Given the description of an element on the screen output the (x, y) to click on. 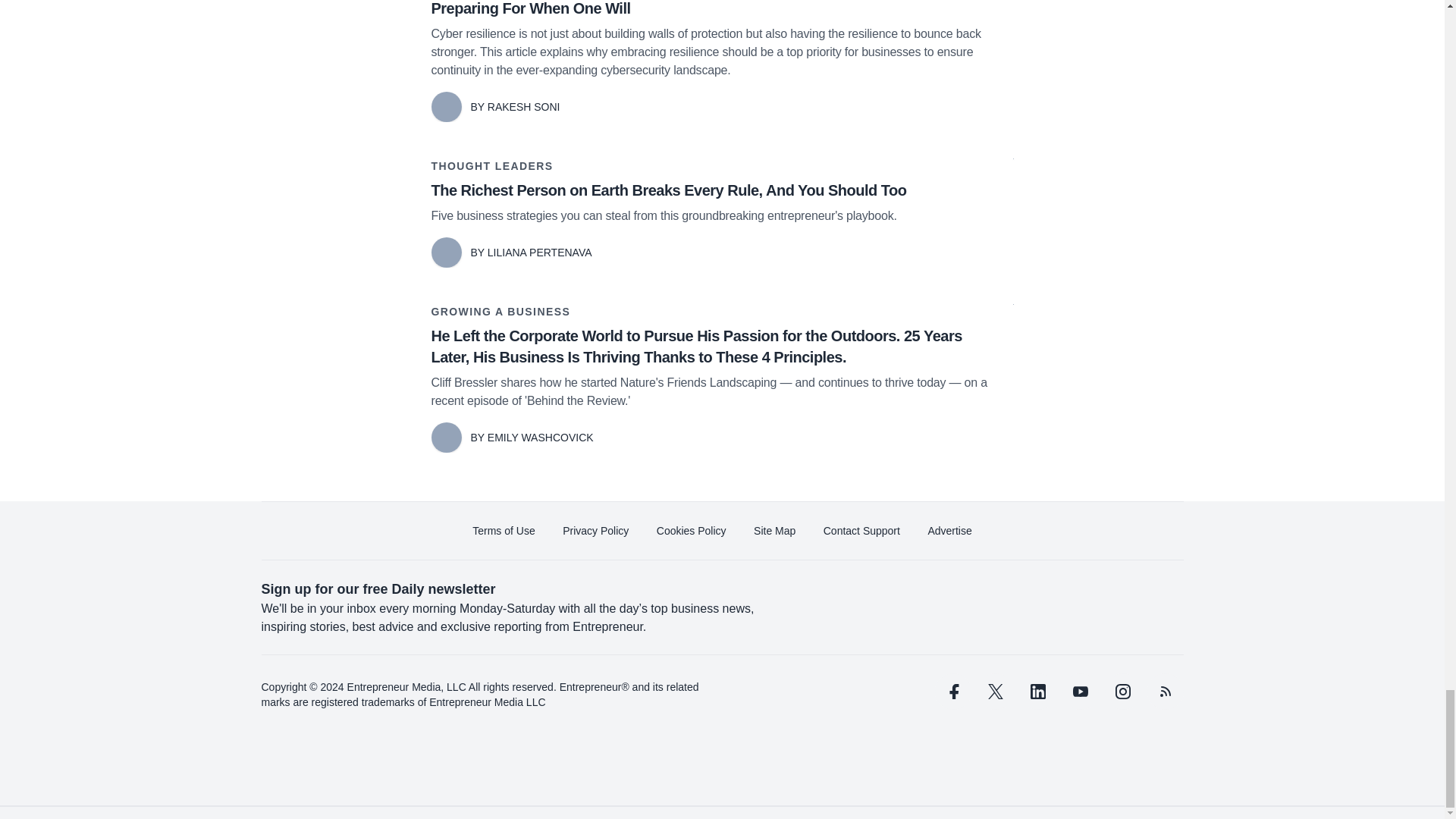
youtube (1079, 691)
rss (1164, 691)
twitter (994, 691)
linkedin (1037, 691)
facebook (952, 691)
instagram (1121, 691)
